Given the description of an element on the screen output the (x, y) to click on. 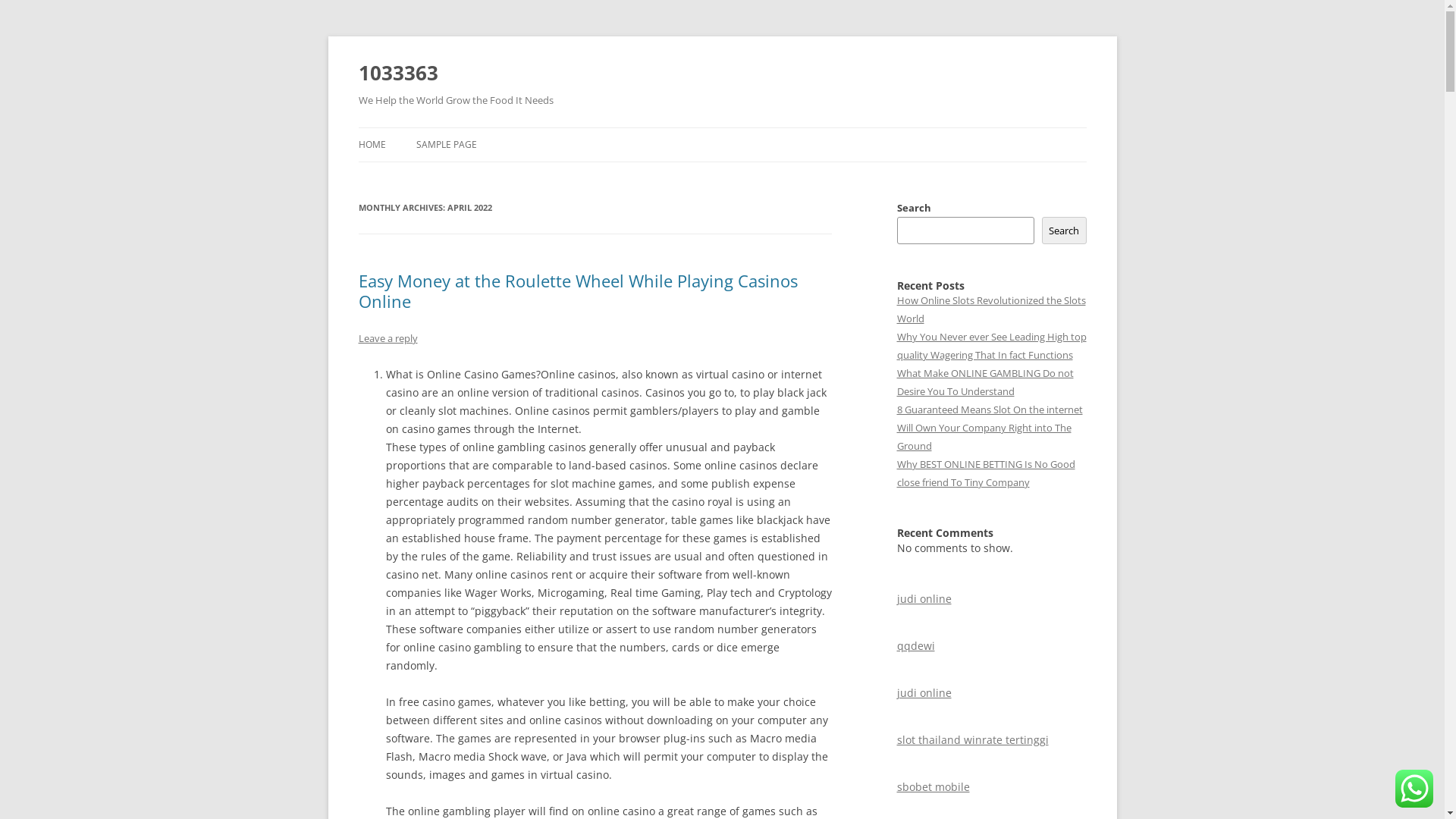
HOME Element type: text (371, 144)
Search Element type: text (1063, 230)
SAMPLE PAGE Element type: text (445, 144)
Leave a reply Element type: text (387, 338)
judi online Element type: text (923, 598)
Skip to content Element type: text (721, 127)
1033363 Element type: text (397, 72)
How Online Slots Revolutionized the Slots World Element type: text (990, 309)
slot thailand winrate tertinggi Element type: text (972, 739)
sbobet mobile Element type: text (932, 786)
What Make ONLINE GAMBLING Do not Desire You To Understand Element type: text (984, 382)
qqdewi Element type: text (915, 645)
judi online Element type: text (923, 692)
